Given the description of an element on the screen output the (x, y) to click on. 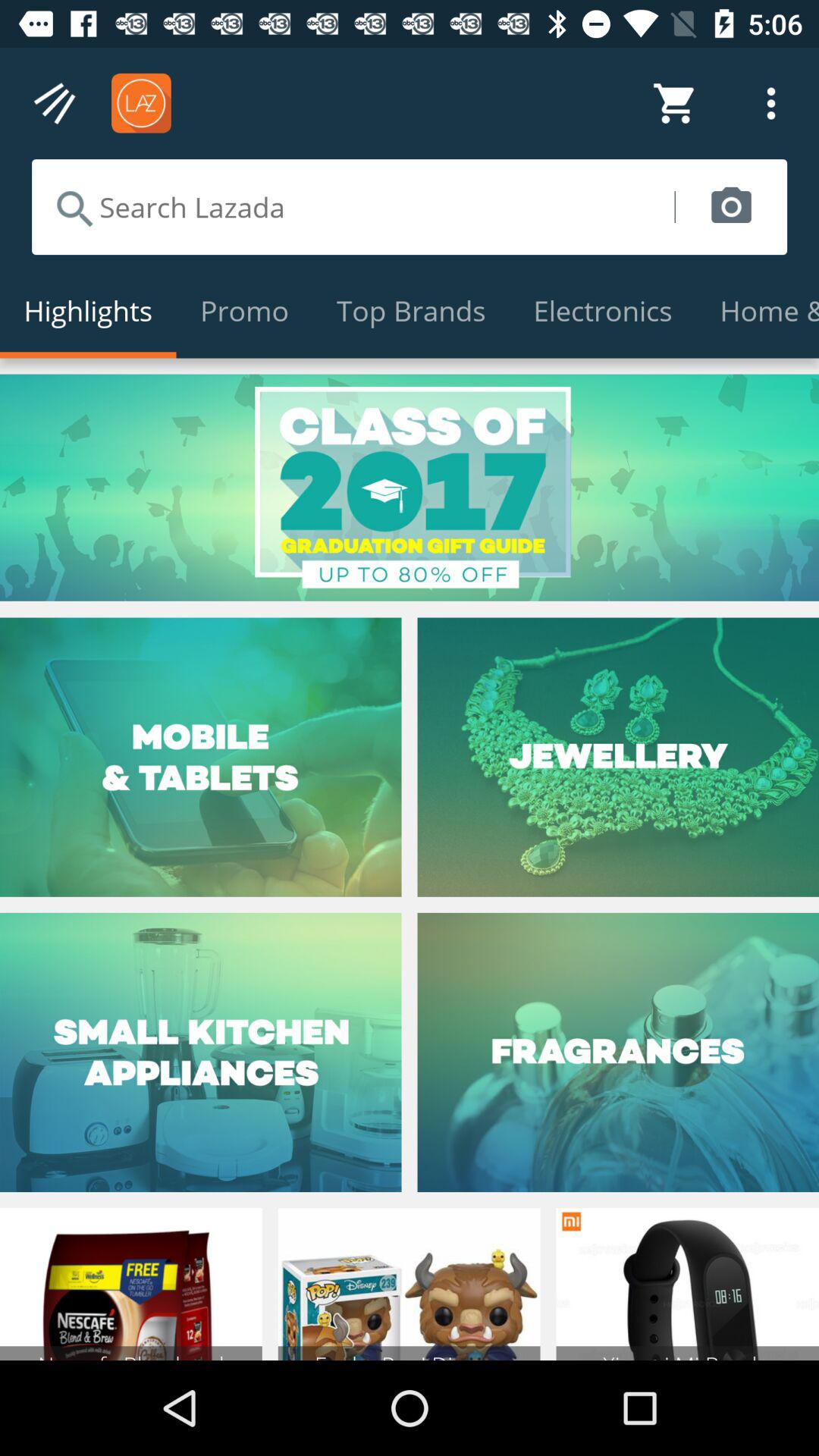
enter search term (352, 206)
